Given the description of an element on the screen output the (x, y) to click on. 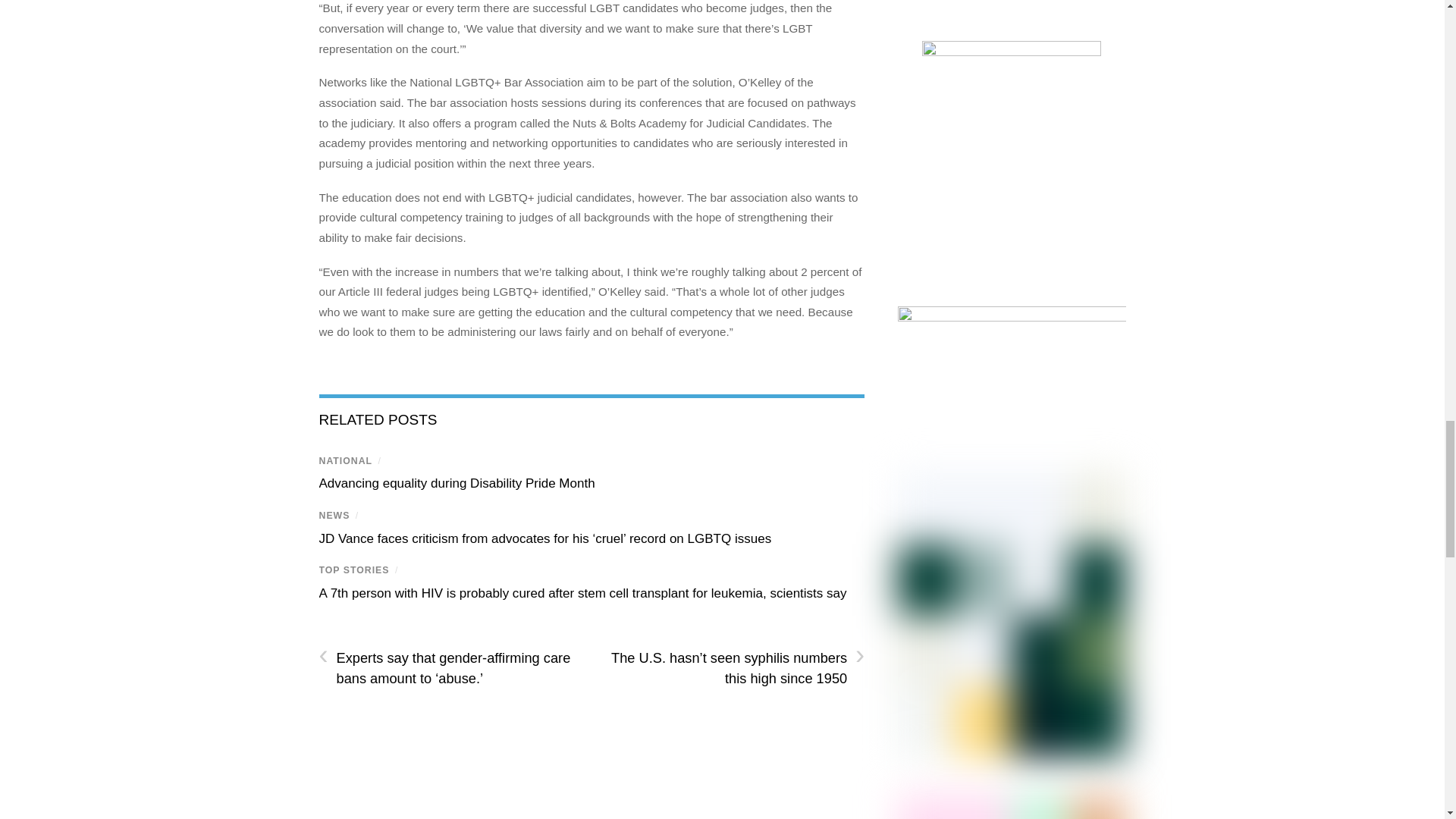
Advancing equality during Disability Pride Month (456, 482)
